Given the description of an element on the screen output the (x, y) to click on. 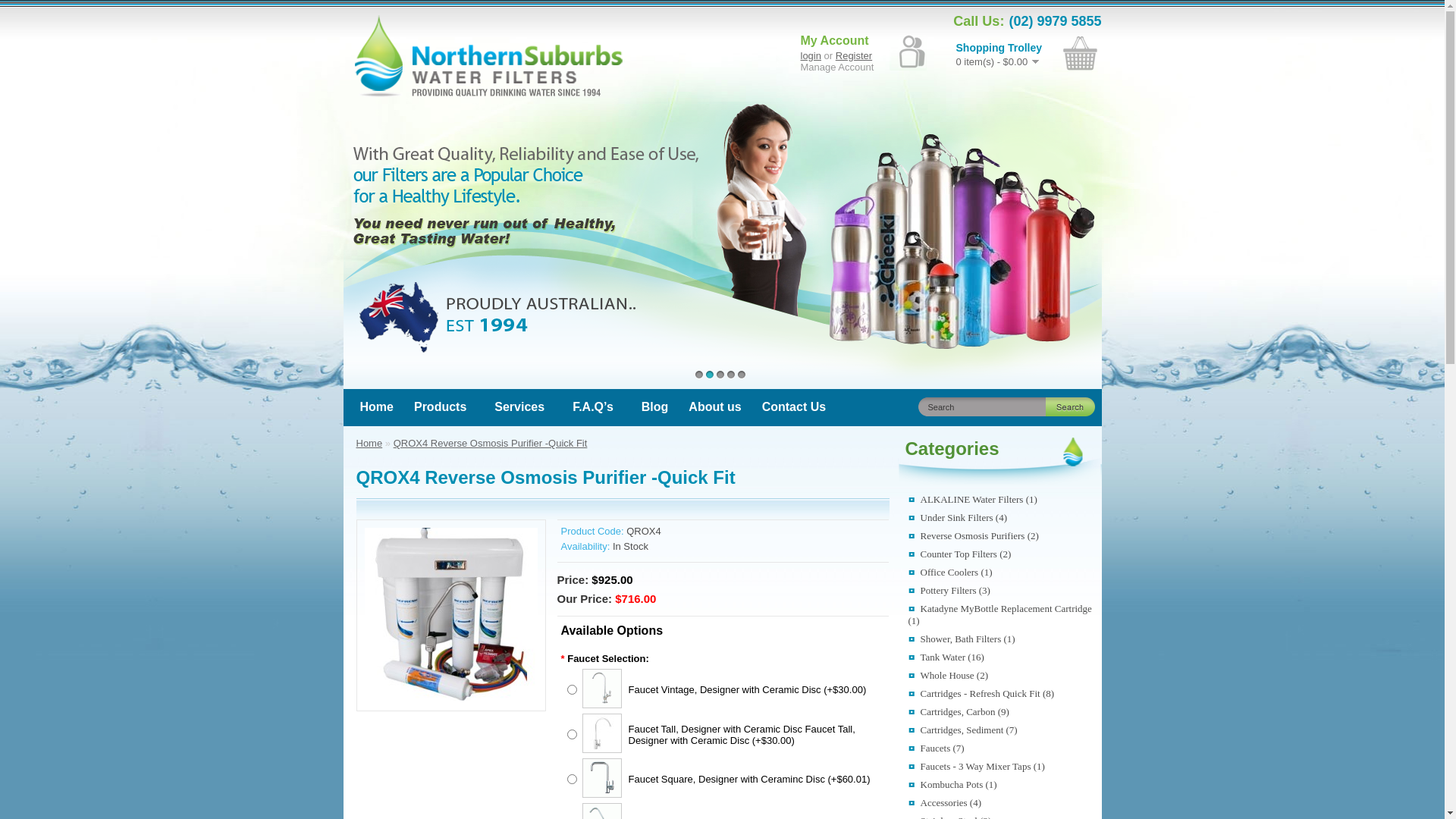
Cartridges, Sediment (7) Element type: text (962, 729)
Katadyne MyBottle Replacement Cartridge (1) Element type: text (1000, 614)
Blog Element type: text (654, 406)
QROX4 Reverse Osmosis Purifier -Quick Fit Element type: text (490, 442)
Northern Suburbs Water Filters Element type: hover (488, 56)
QROX4 Reverse Osmosis Purifier -Quick Fit Element type: hover (450, 613)
3 Element type: text (719, 374)
Faucet Square, Designer with Ceraminc Disc +$60.01 Element type: hover (603, 794)
Contact Us Element type: text (793, 406)
Whole House (2) Element type: text (948, 674)
1 Element type: text (698, 374)
Pottery Filters (3) Element type: text (949, 590)
Under Sink Filters (4) Element type: text (957, 517)
Home Element type: text (369, 442)
Cartridges, Carbon (9) Element type: text (958, 711)
Faucets - 3 Way Mixer Taps (1) Element type: text (976, 765)
5 Element type: text (741, 374)
0 item(s) - $0.00 Element type: text (996, 61)
Cartridges - Refresh Quick Fit (8) Element type: text (981, 693)
Faucets (7) Element type: text (936, 747)
Faucet Vintage, Designer with Ceramic Disc +$30.00 Element type: hover (603, 704)
Products Element type: text (439, 406)
About us Element type: text (714, 406)
Register Element type: text (853, 55)
Services Element type: text (519, 406)
login Element type: text (810, 55)
Accessories (4) Element type: text (945, 802)
Counter Top Filters (2) Element type: text (959, 553)
Shower, Bath Filters (1) Element type: text (961, 638)
Tank Water (16) Element type: text (946, 656)
Office Coolers (1) Element type: text (950, 571)
Home Element type: text (375, 406)
2 Element type: text (709, 374)
QROX4 Reverse Osmosis Purifier -Quick Fit Element type: hover (450, 696)
Reverse Osmosis Purifiers (2) Element type: text (973, 535)
ALKALINE Water Filters (1) Element type: text (972, 499)
4 Element type: text (730, 374)
Kombucha Pots (1) Element type: text (952, 784)
Search Element type: text (985, 406)
